Given the description of an element on the screen output the (x, y) to click on. 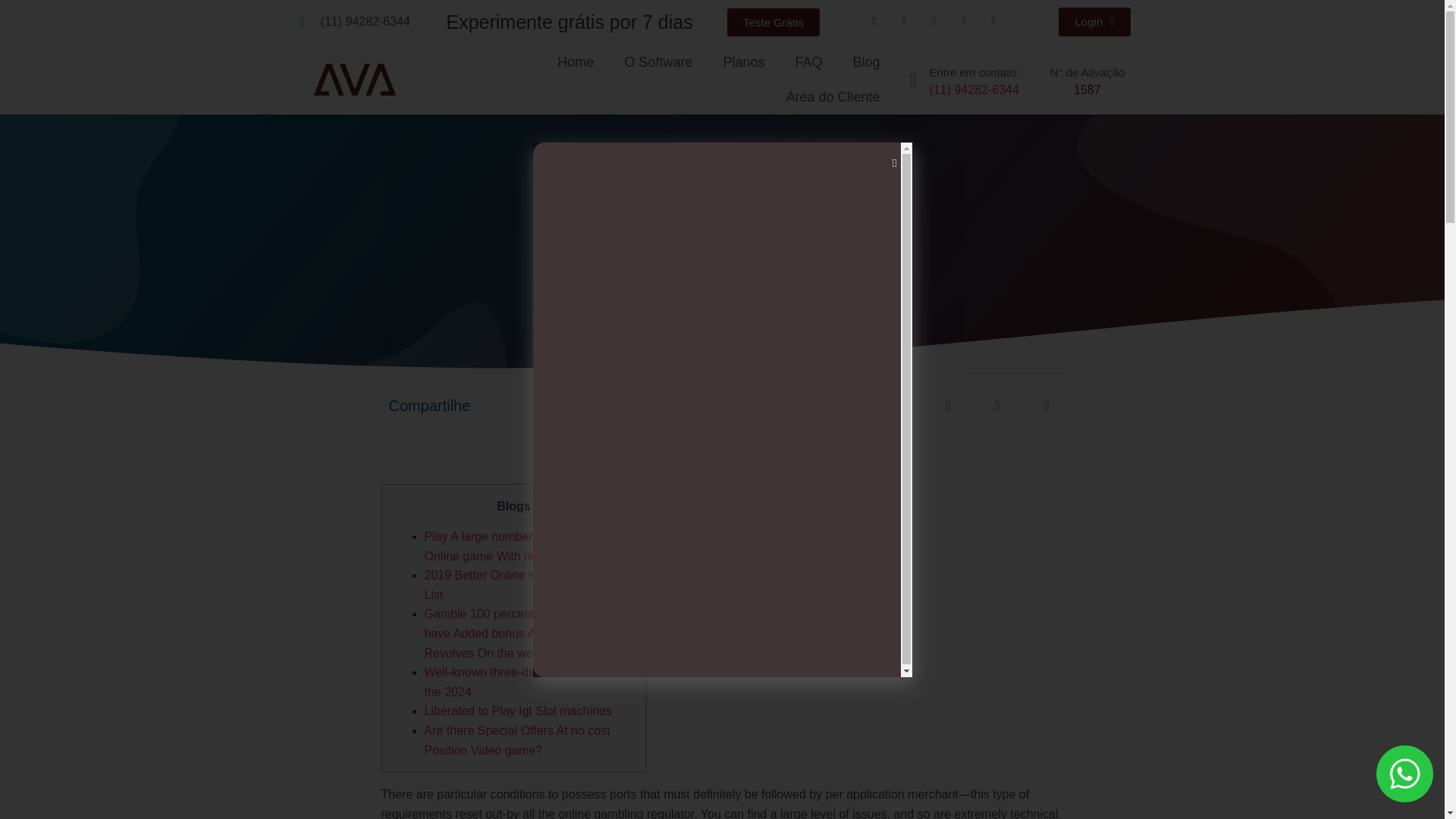
Home (574, 62)
Entre em contato: (972, 72)
O Software (657, 62)
Blog (866, 62)
Login (1093, 21)
Planos (742, 62)
FAQ (807, 62)
